Given the description of an element on the screen output the (x, y) to click on. 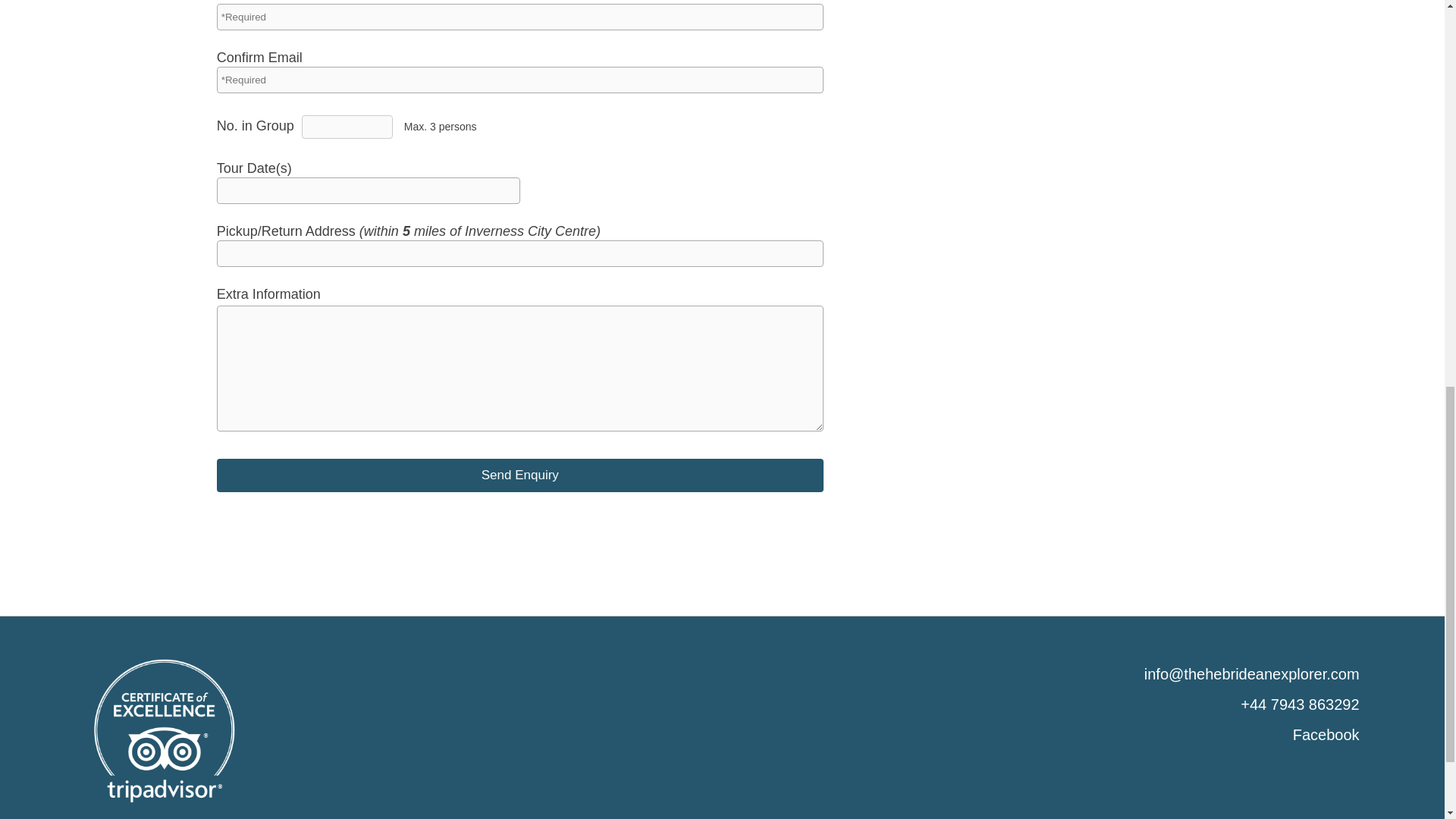
Trip Advisor Reviews for The Hebridean Explorer (164, 731)
Facebook (1325, 734)
Send Enquiry (520, 475)
Send Enquiry (520, 475)
